Given the description of an element on the screen output the (x, y) to click on. 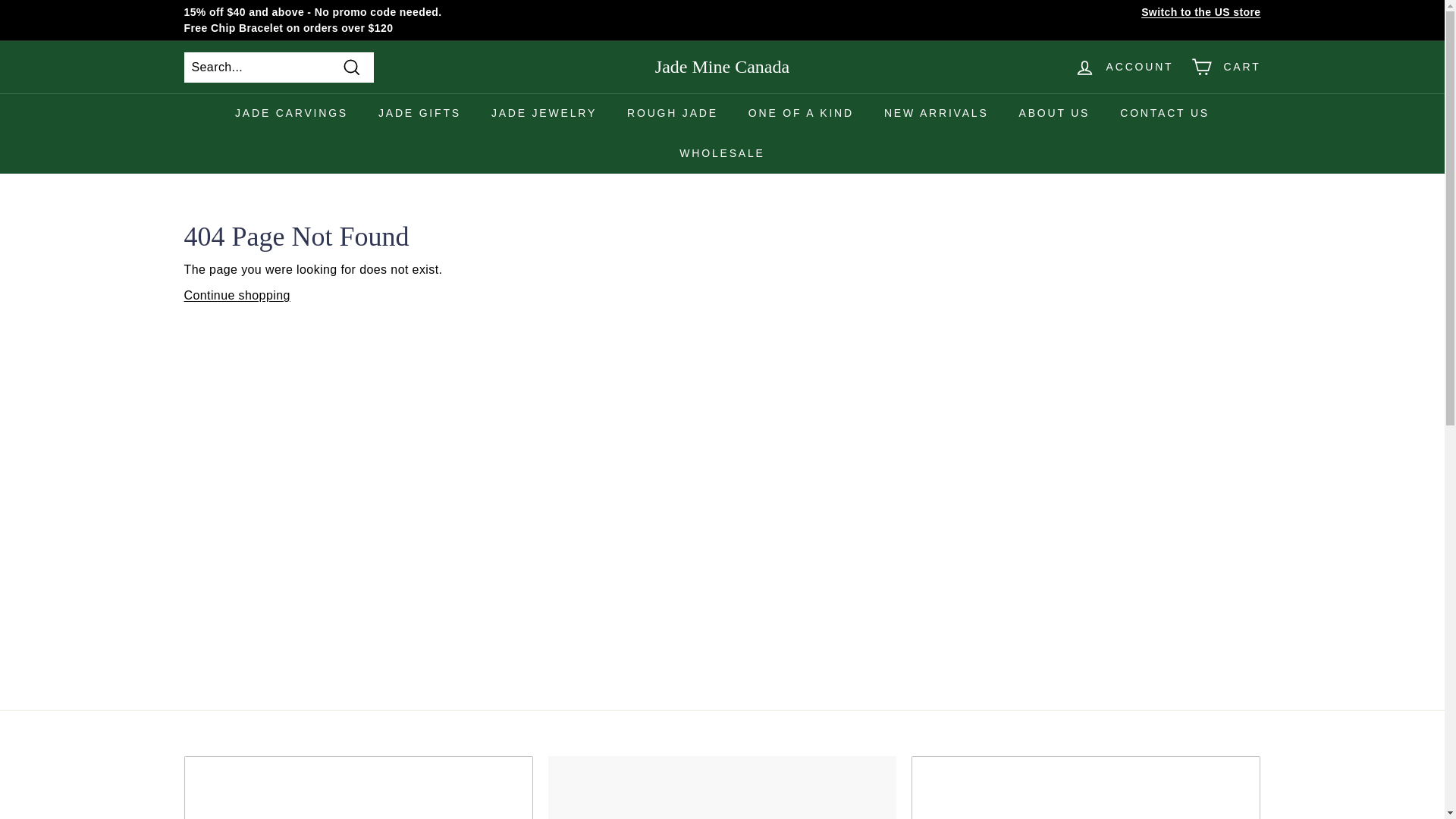
JADE GIFTS (419, 113)
ACCOUNT (1123, 67)
JADE CARVINGS (290, 113)
Jade Mine Canada (722, 66)
JADE JEWELRY (543, 113)
Switch to the US store (1200, 12)
